Given the description of an element on the screen output the (x, y) to click on. 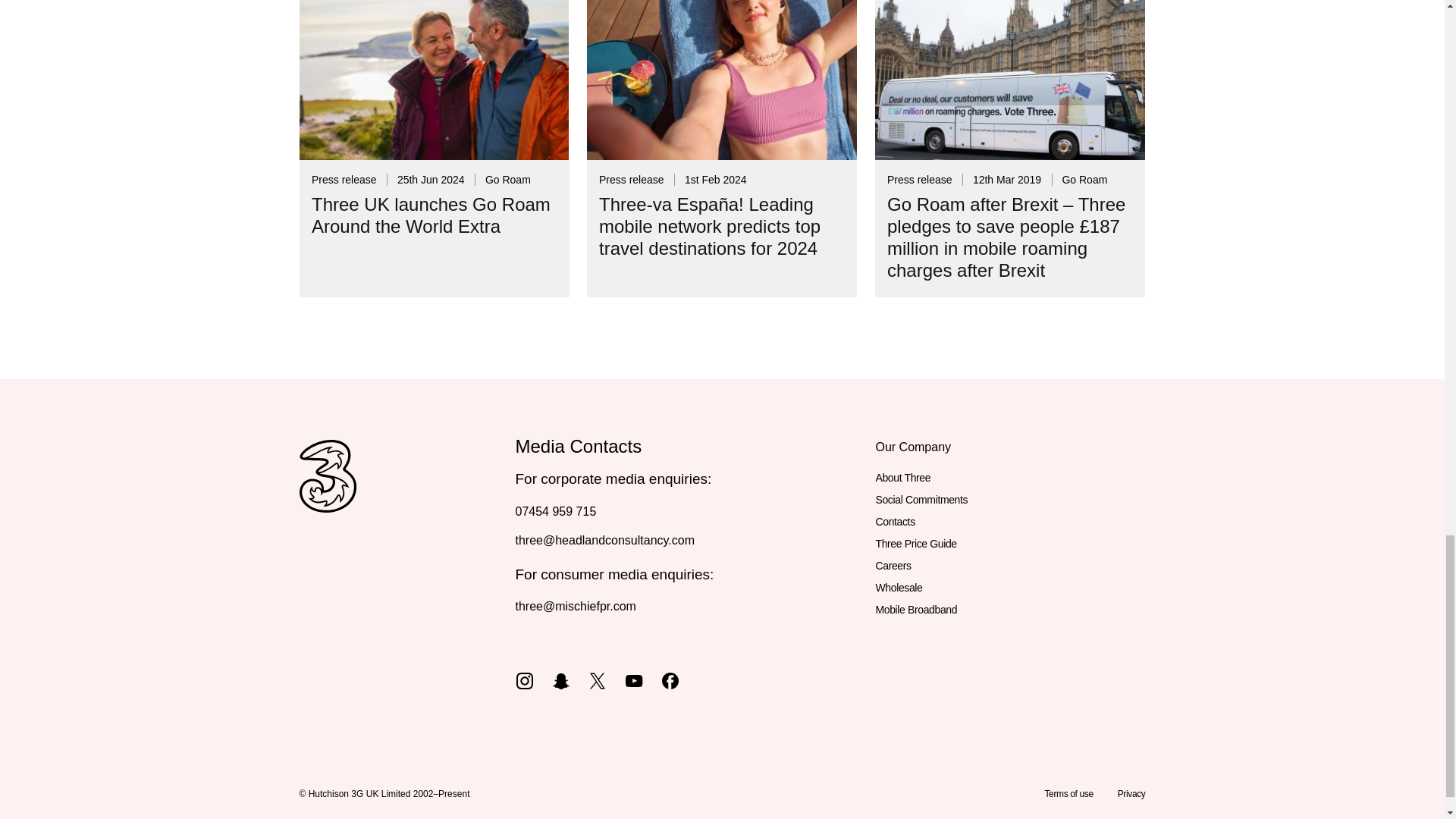
Terms of use (1068, 793)
Three Price Guide (915, 543)
View our Facebook feed. (670, 679)
Visit our Instagram page. (524, 679)
Follow us on Snapchat for the latest from Three Mobile... (560, 679)
Social Commitments (921, 499)
Contacts (894, 521)
Careers (893, 565)
Wholesale (898, 587)
Home (326, 492)
07454 959 715 (555, 511)
Privacy (1131, 793)
About Three (902, 477)
Watch our YouTube channel. (633, 679)
